Given the description of an element on the screen output the (x, y) to click on. 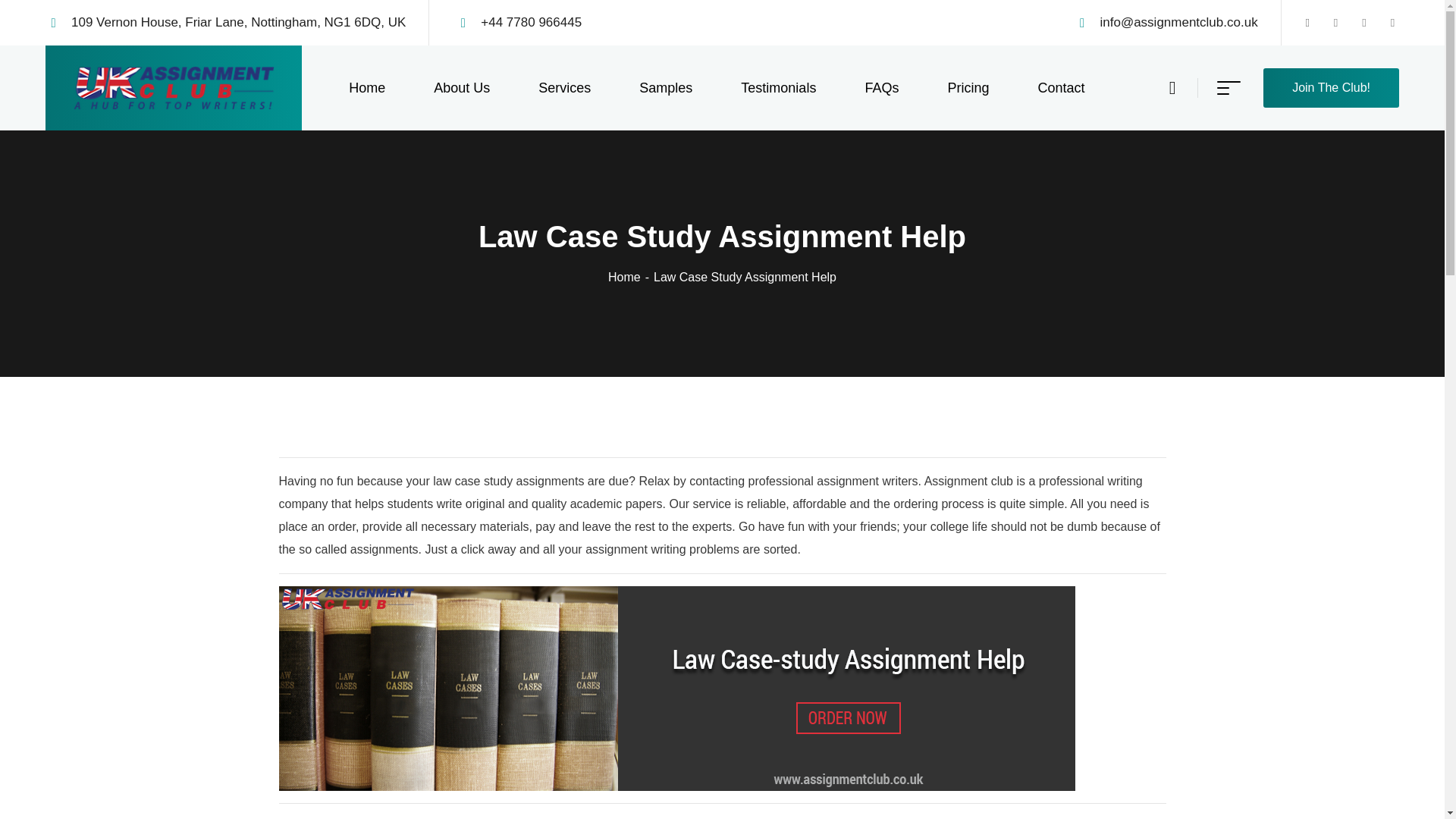
Home (630, 277)
About Us (461, 87)
Join The Club! (1331, 87)
Samples (666, 87)
Services (564, 87)
Testimonials (777, 87)
Contact (1060, 87)
